Given the description of an element on the screen output the (x, y) to click on. 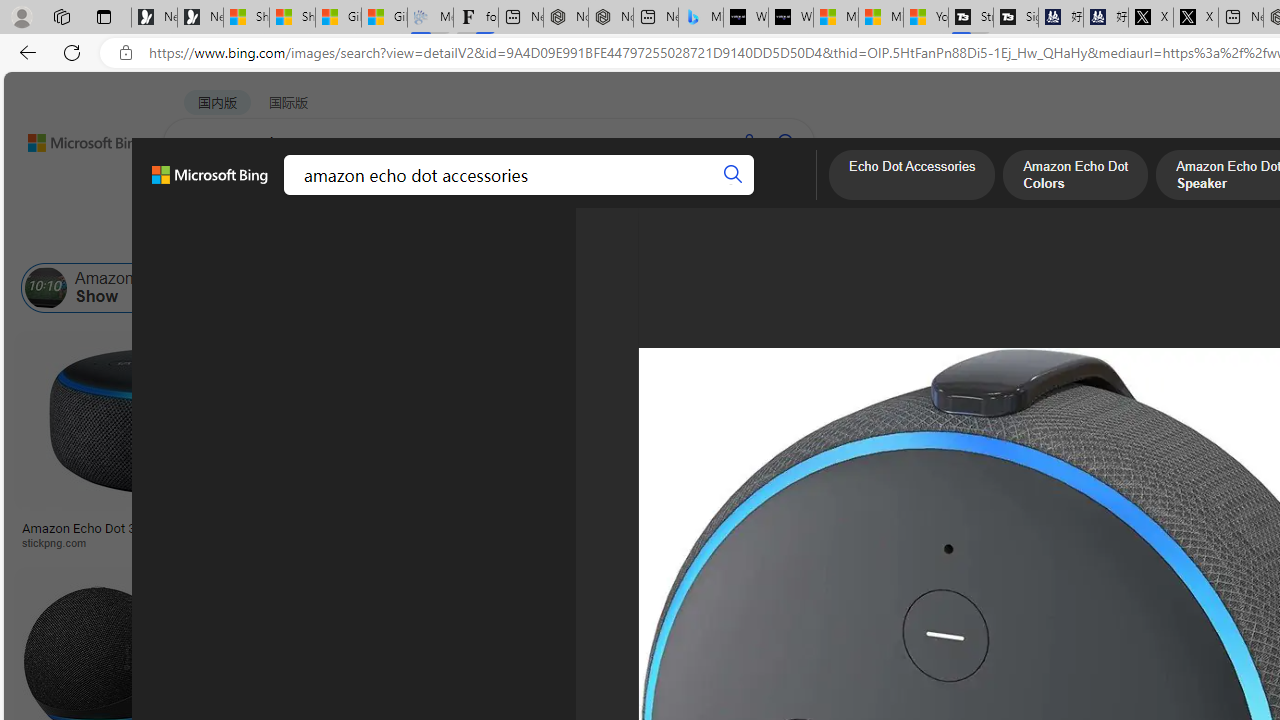
WEB (201, 195)
Amazon Echo Dot Colors (1075, 177)
Amazon Echo 2nd Generation (999, 287)
Echo Dot Accessories (397, 287)
Microsoft Bing, Back to Bing search (209, 183)
License (664, 237)
DICT (630, 195)
MAPS (698, 195)
People (521, 237)
